Given the description of an element on the screen output the (x, y) to click on. 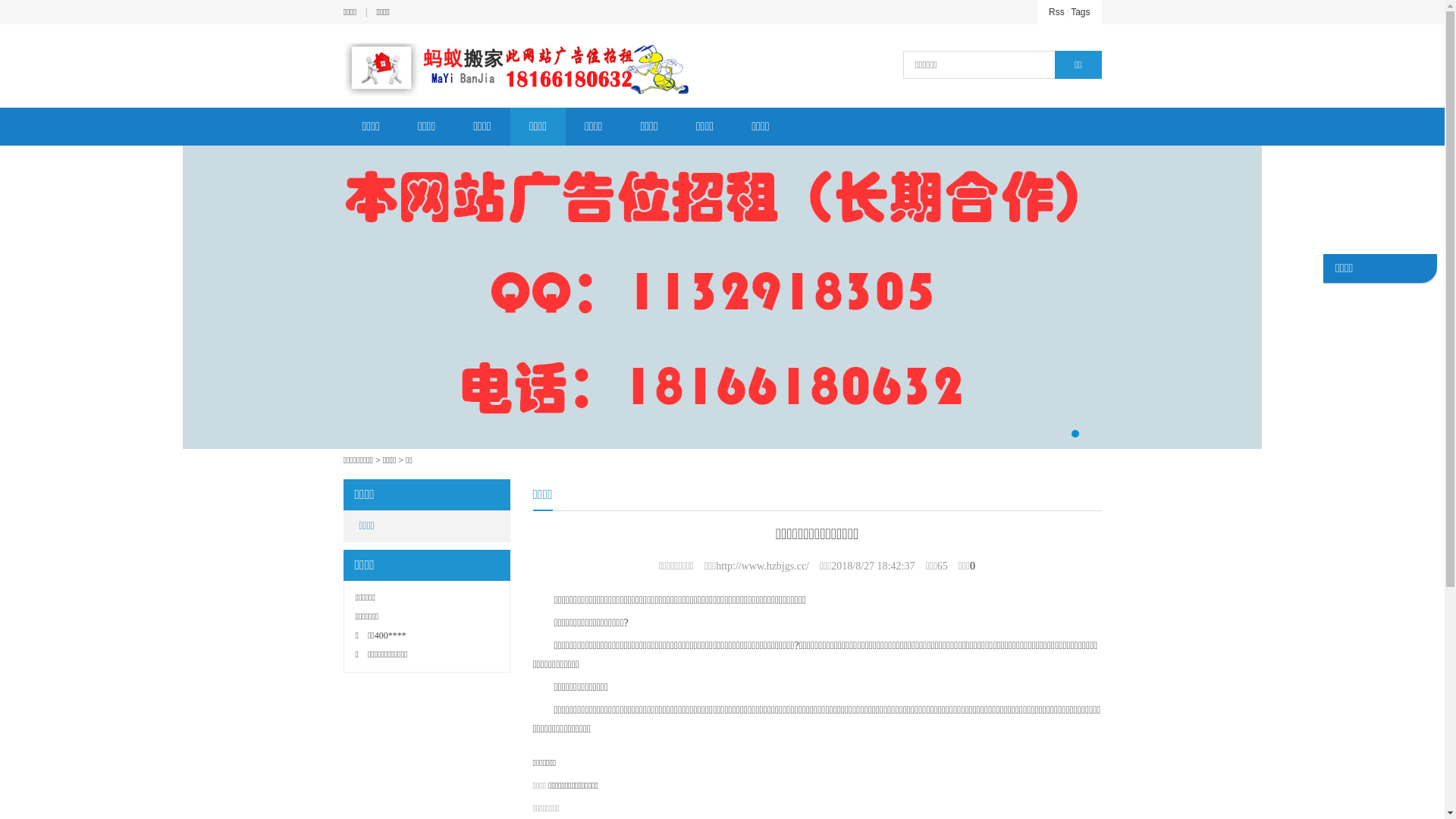
Tags Element type: text (1079, 11)
Rss Element type: text (1056, 11)
0 Element type: text (972, 565)
1 Element type: text (1074, 433)
